Given the description of an element on the screen output the (x, y) to click on. 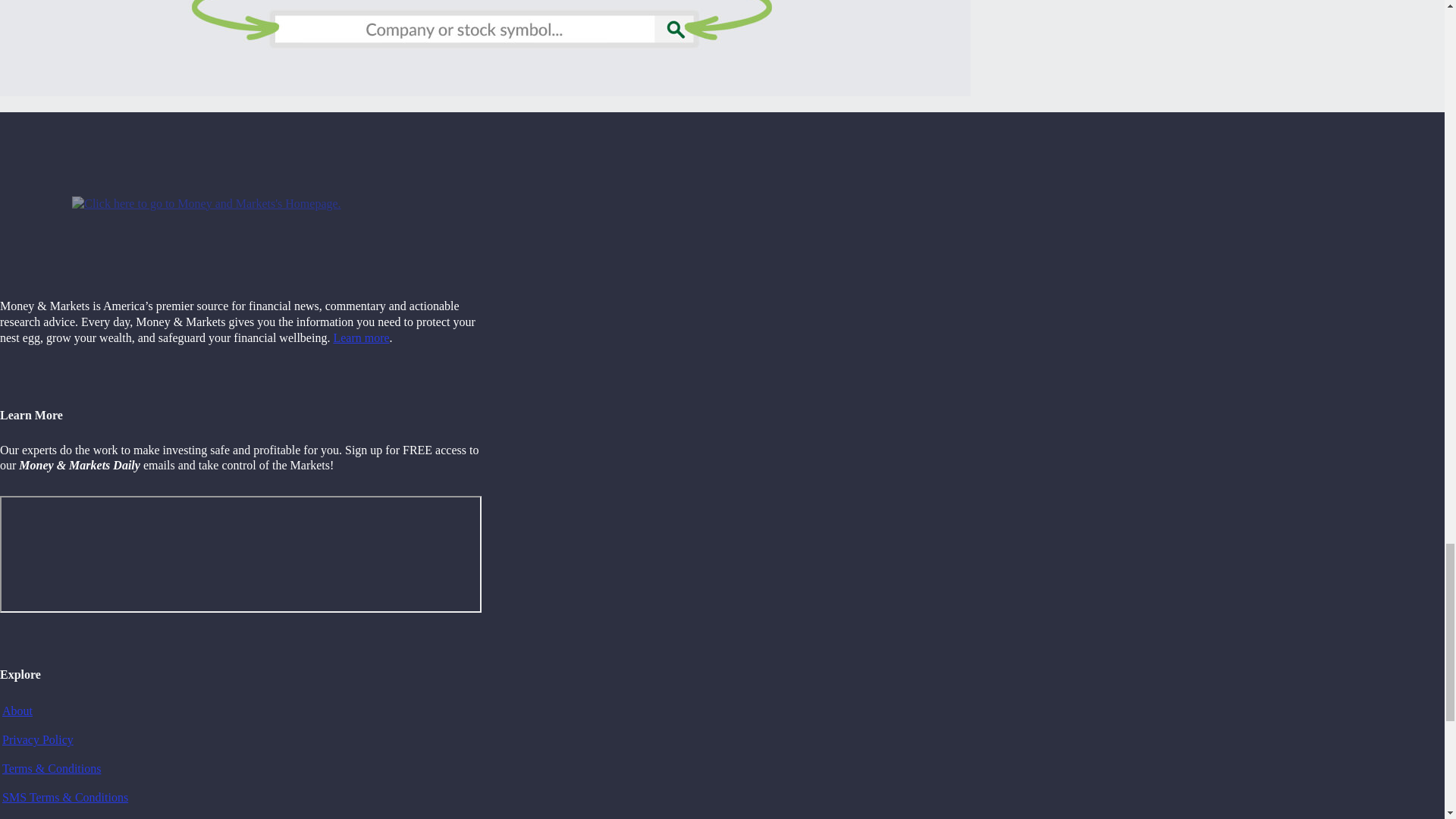
Privacy Policy (38, 739)
About (17, 710)
Learn more (360, 337)
